Given the description of an element on the screen output the (x, y) to click on. 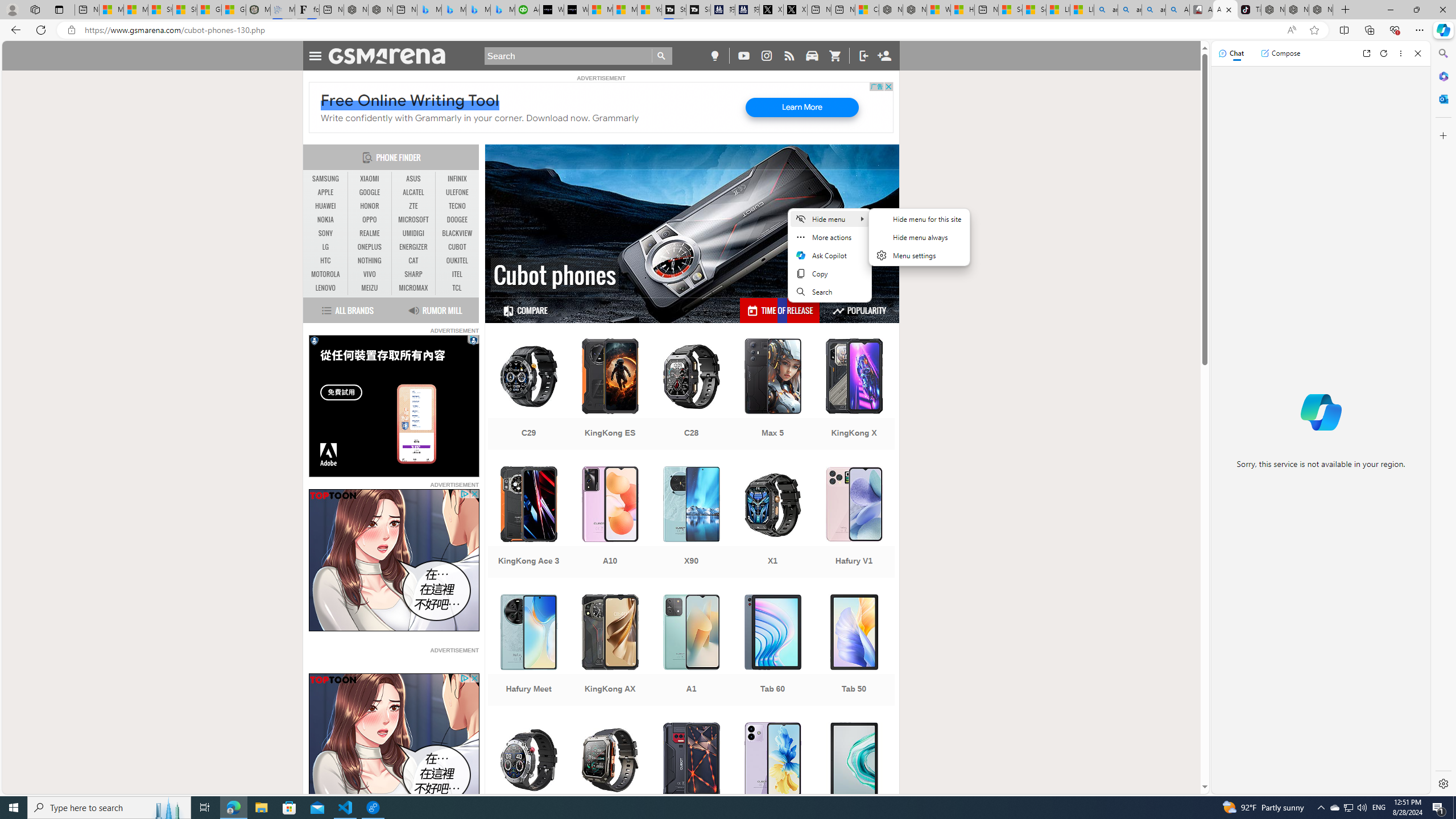
AutomationID: anchor (391, 55)
Class: qc-adchoices-link top-right  (473, 338)
X90 (691, 523)
